Given the description of an element on the screen output the (x, y) to click on. 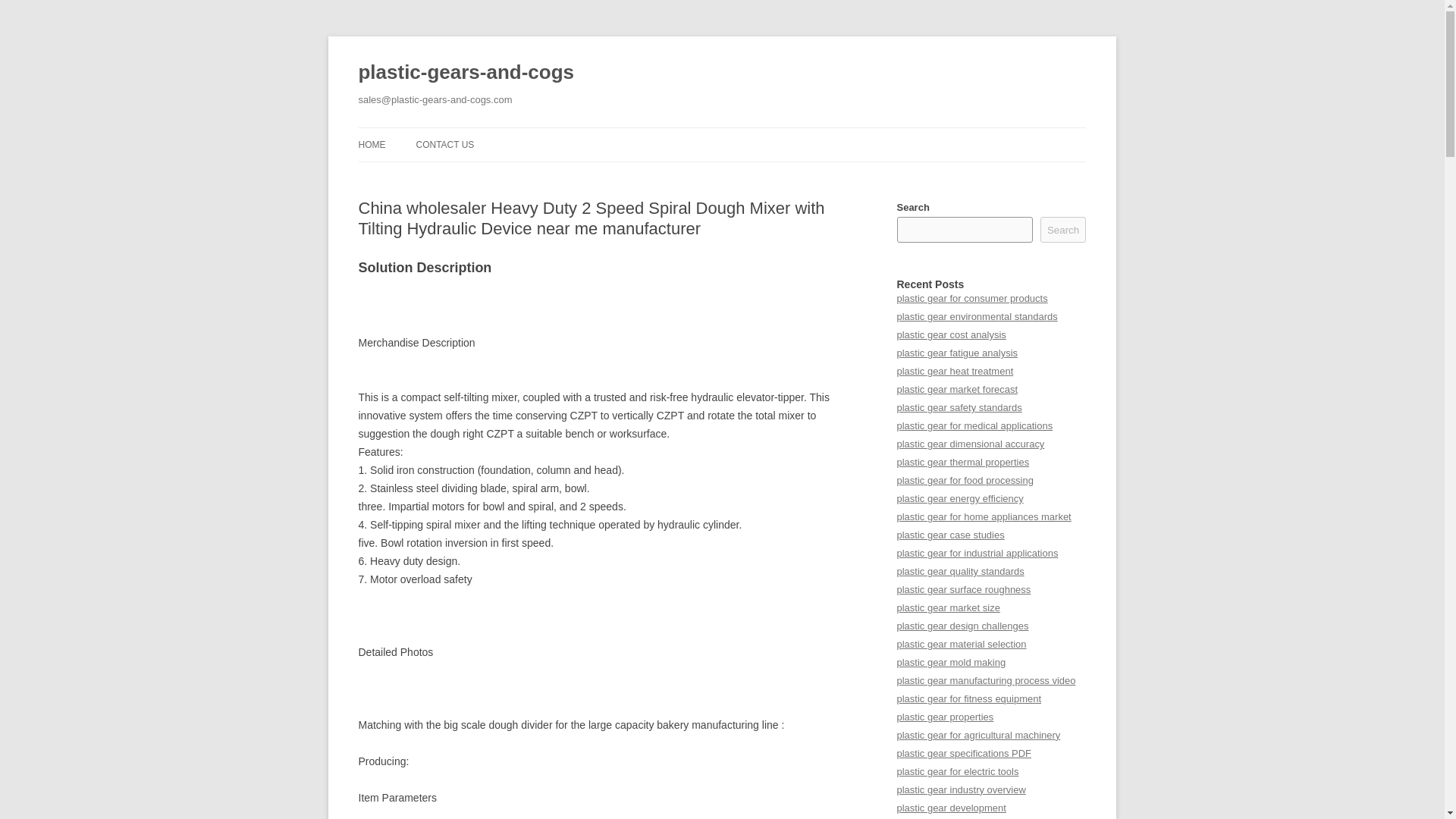
plastic gear material selection (961, 644)
plastic-gears-and-cogs (465, 72)
plastic gear for industrial applications (977, 552)
plastic gear thermal properties (962, 461)
plastic gear specifications PDF (963, 753)
plastic gear case studies (950, 534)
plastic gear market forecast (956, 389)
plastic gear fatigue analysis (956, 352)
plastic gear manufacturing process video (985, 680)
CONTACT US (444, 144)
